Given the description of an element on the screen output the (x, y) to click on. 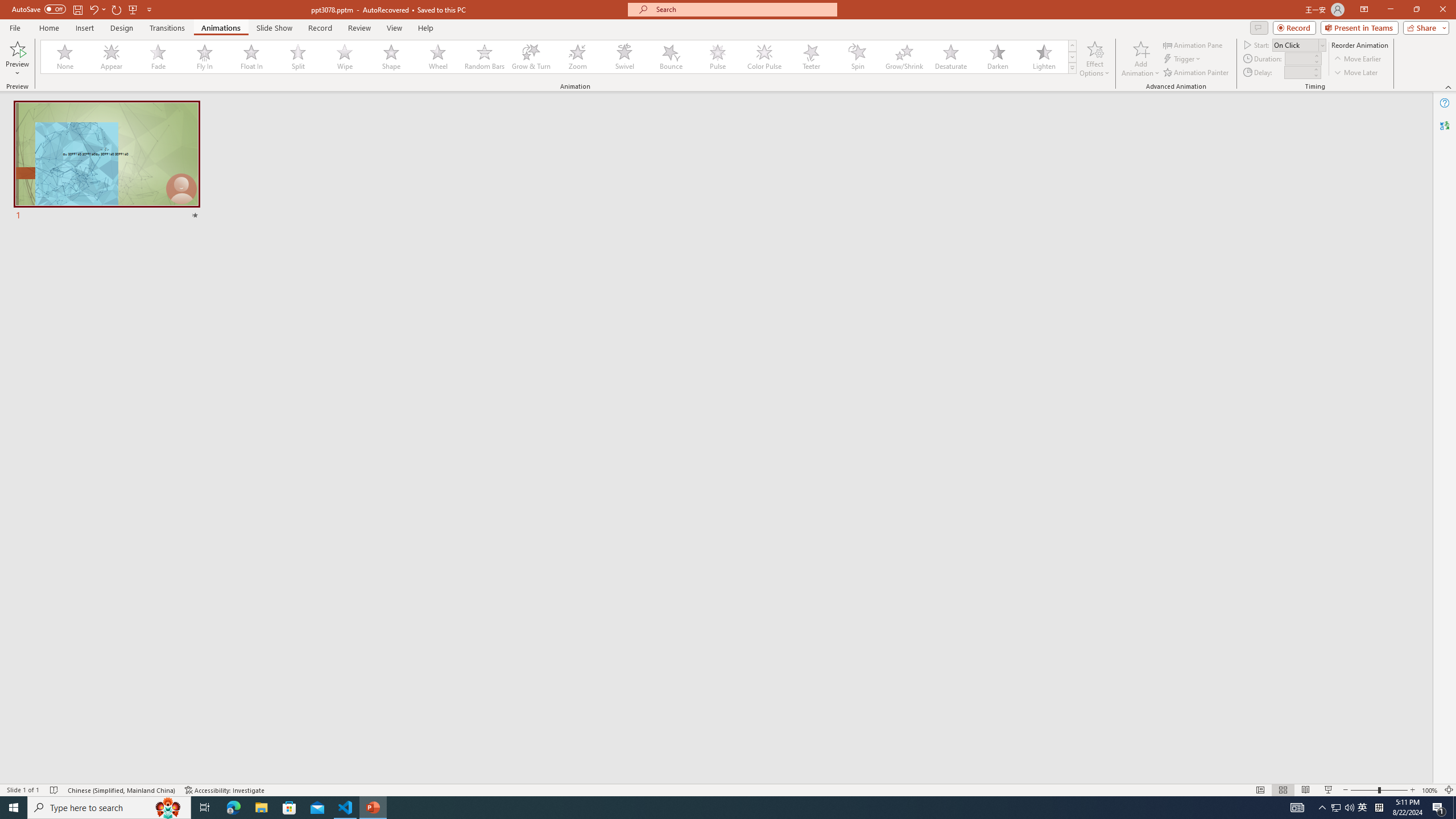
Animation Delay (1297, 72)
Bounce (670, 56)
Teeter (810, 56)
